Given the description of an element on the screen output the (x, y) to click on. 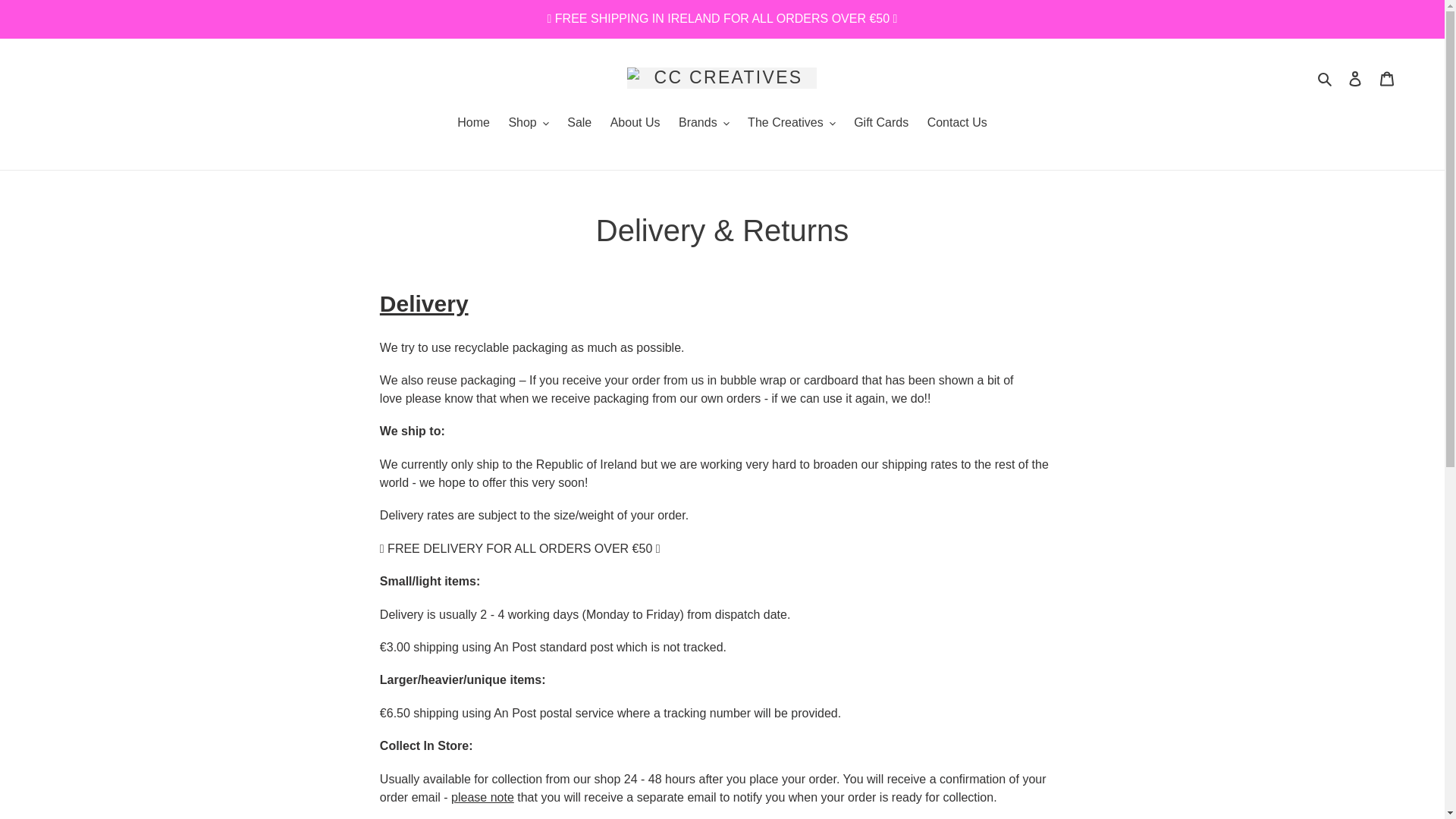
Log in (1355, 78)
Cart (1387, 78)
Search (1326, 77)
